Given the description of an element on the screen output the (x, y) to click on. 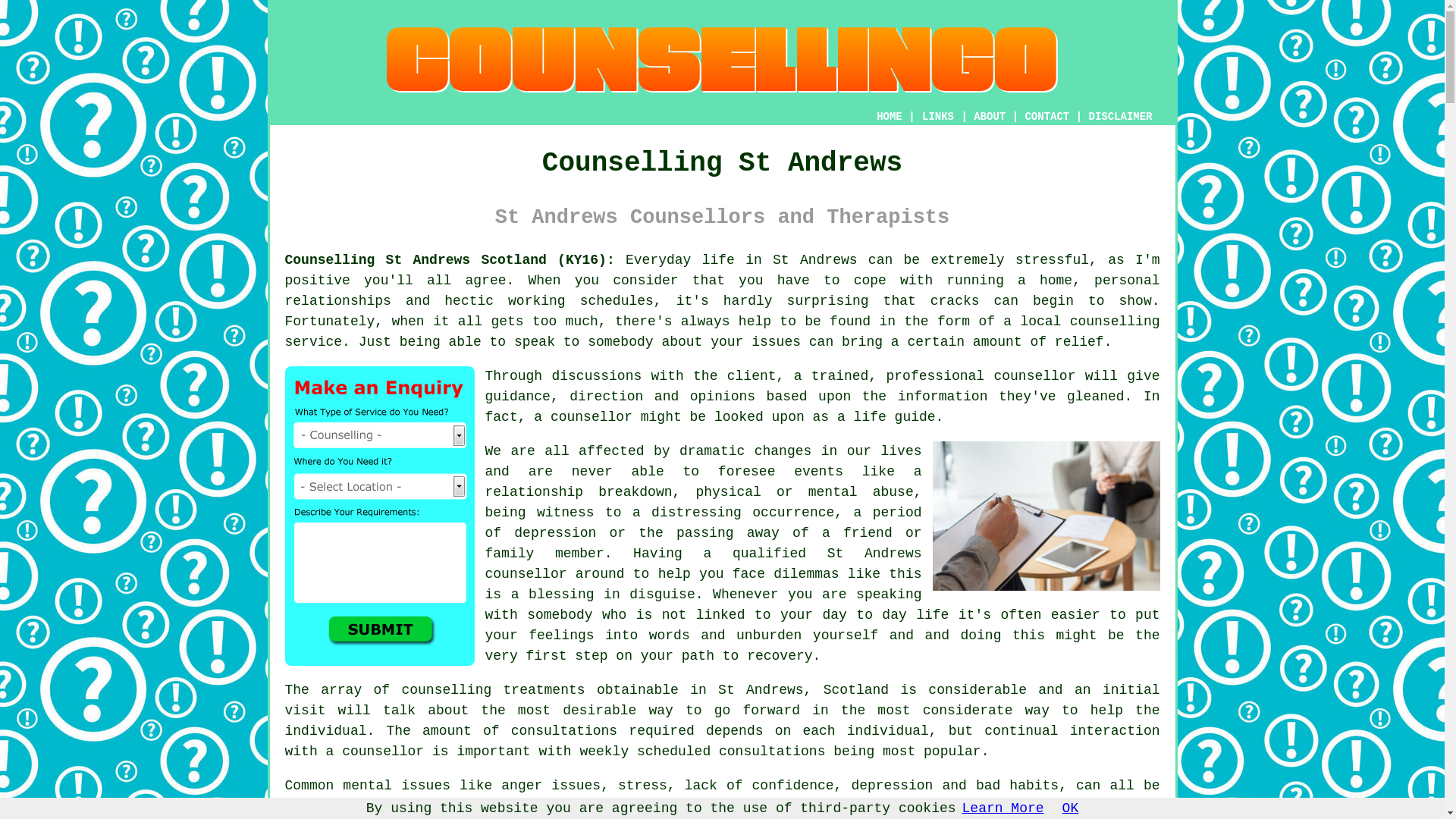
LINKS (938, 116)
Counselling St Andrews (721, 60)
HOME (889, 116)
